Given the description of an element on the screen output the (x, y) to click on. 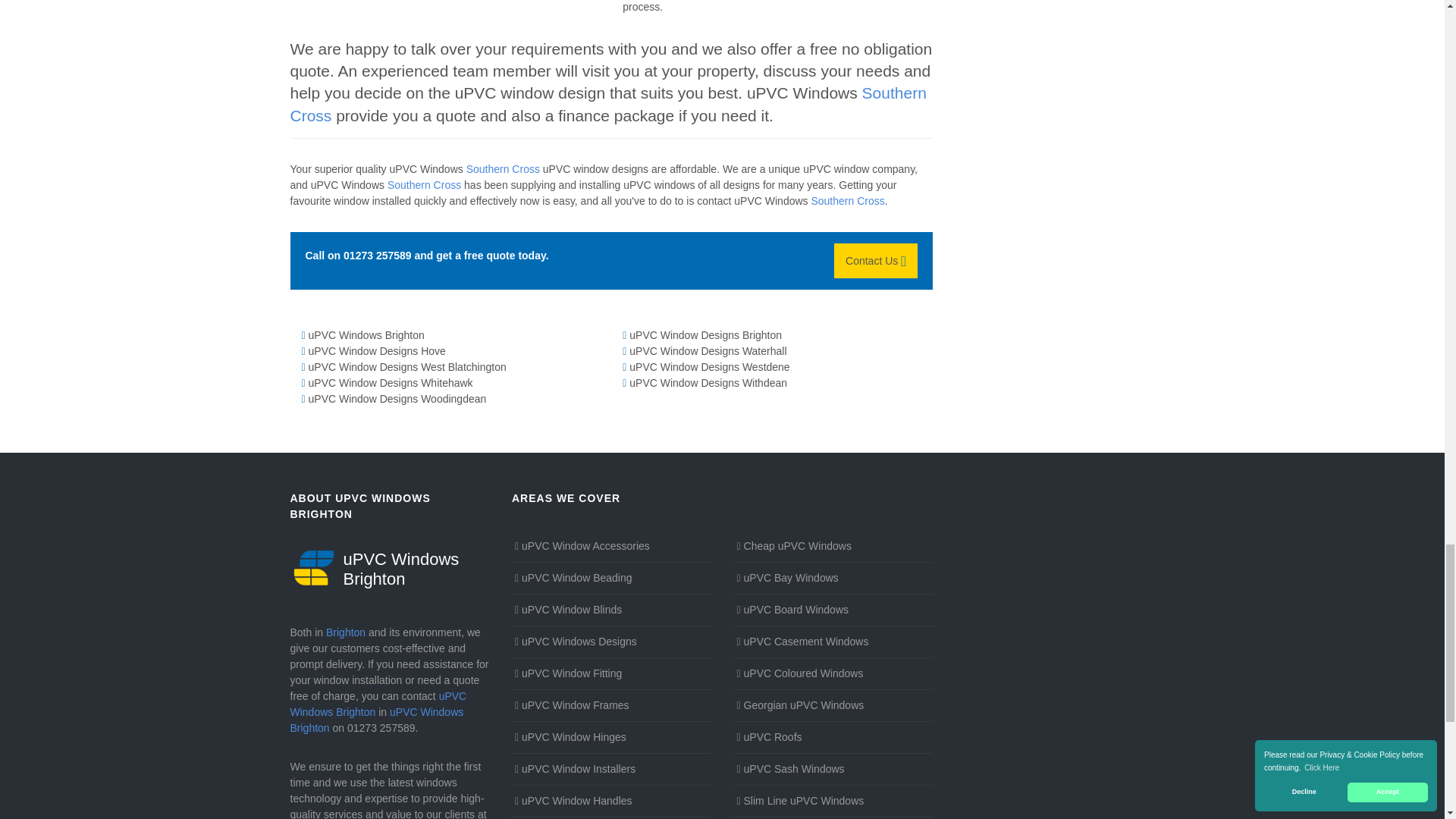
uPVC Windows Brighton (389, 567)
